Given the description of an element on the screen output the (x, y) to click on. 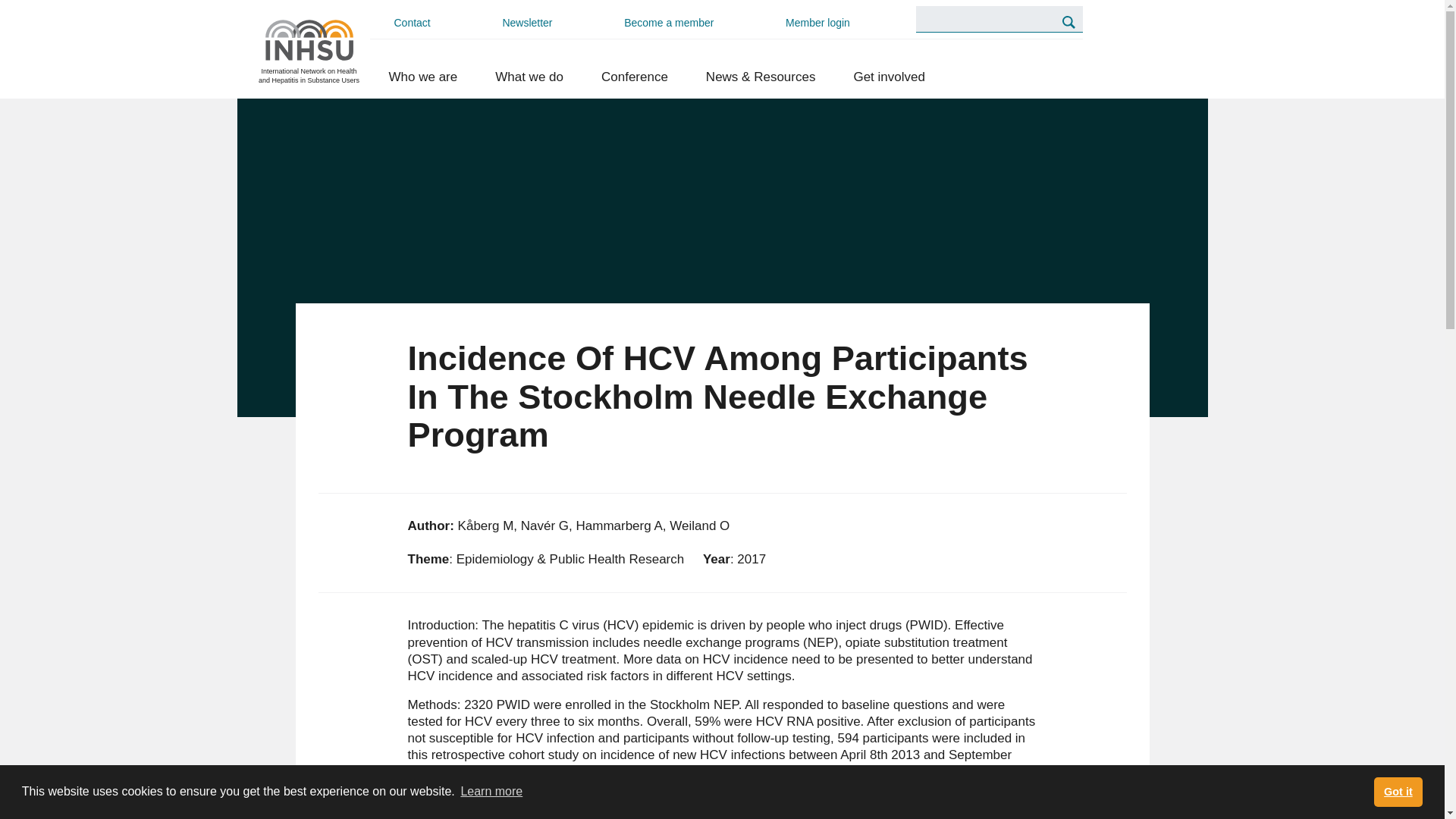
What we do (529, 77)
Search (1067, 21)
Search (1067, 21)
Member login (817, 22)
Become a member (668, 22)
Newsletter (526, 22)
Conference (634, 77)
Newsletter (526, 22)
Contact (412, 22)
Contact (412, 22)
Become a member (668, 22)
Who we are (423, 77)
Member login (817, 22)
